Given the description of an element on the screen output the (x, y) to click on. 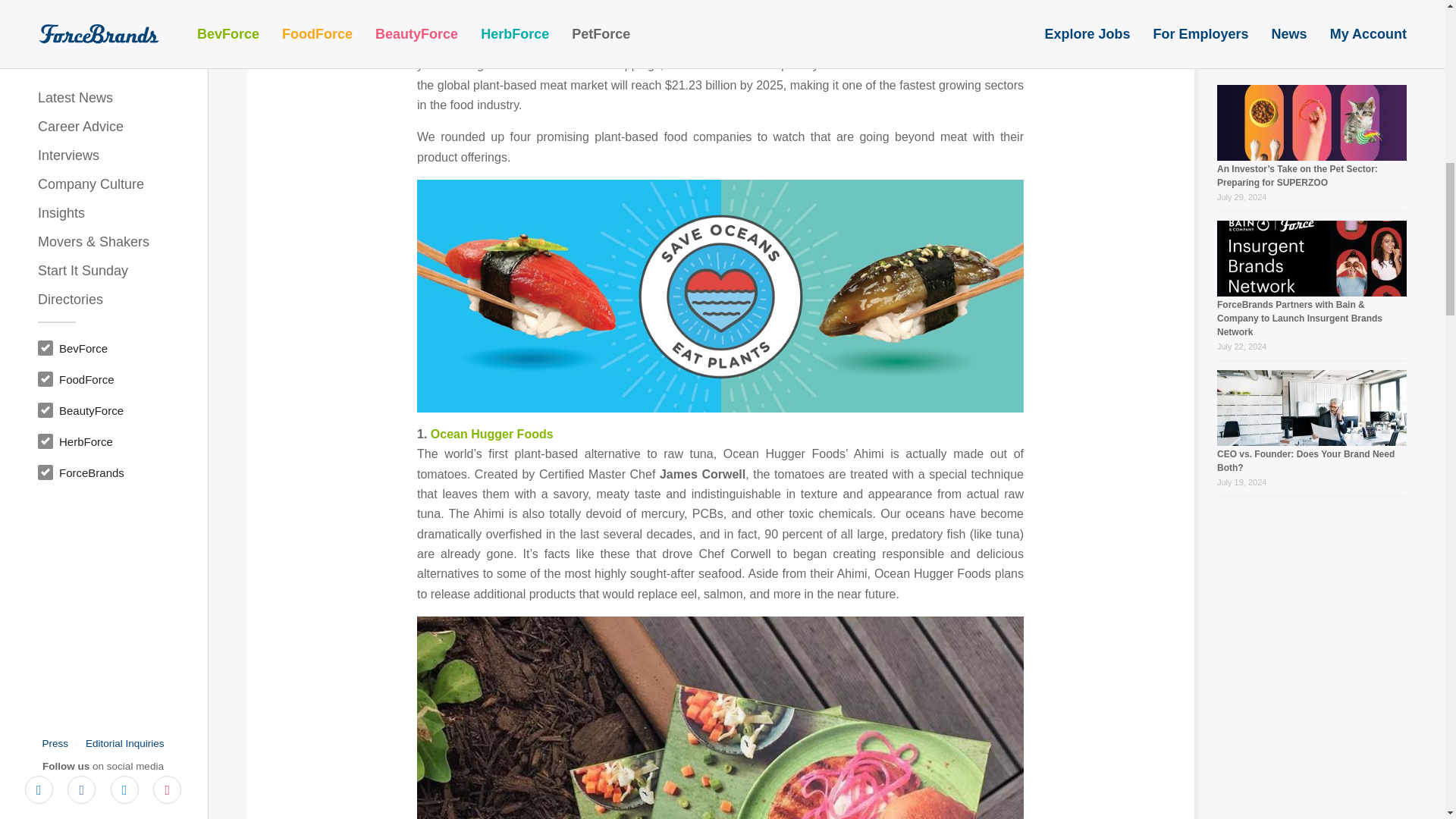
Permalink to CEO vs. Founder: Does Your Brand Need Both? (1305, 165)
Plant-Based Foods Association (598, 24)
